Given the description of an element on the screen output the (x, y) to click on. 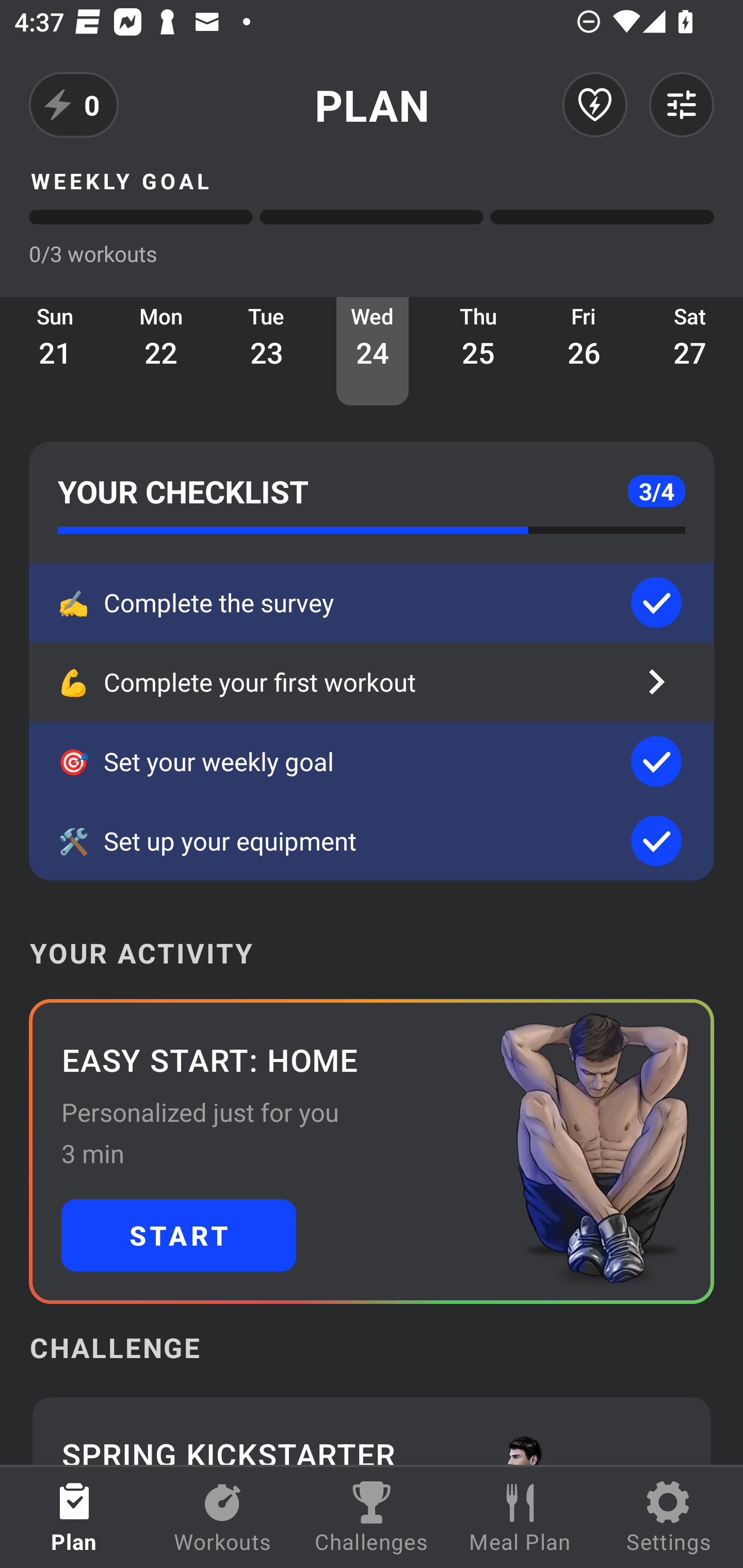
0 (73, 104)
Sun 21 (55, 351)
Mon 22 (160, 351)
Tue 23 (266, 351)
Wed 24 (372, 351)
Thu 25 (478, 351)
Fri 26 (584, 351)
Sat 27 (690, 351)
💪 Complete your first workout (371, 681)
START (178, 1235)
 Workouts  (222, 1517)
 Challenges  (371, 1517)
 Meal Plan  (519, 1517)
 Settings  (668, 1517)
